Given the description of an element on the screen output the (x, y) to click on. 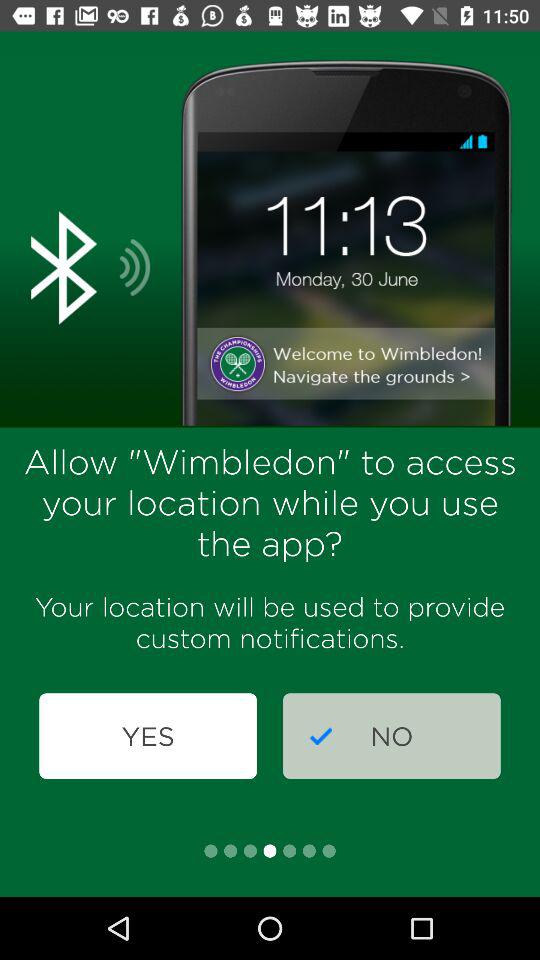
choose the icon at the bottom right corner (391, 735)
